Given the description of an element on the screen output the (x, y) to click on. 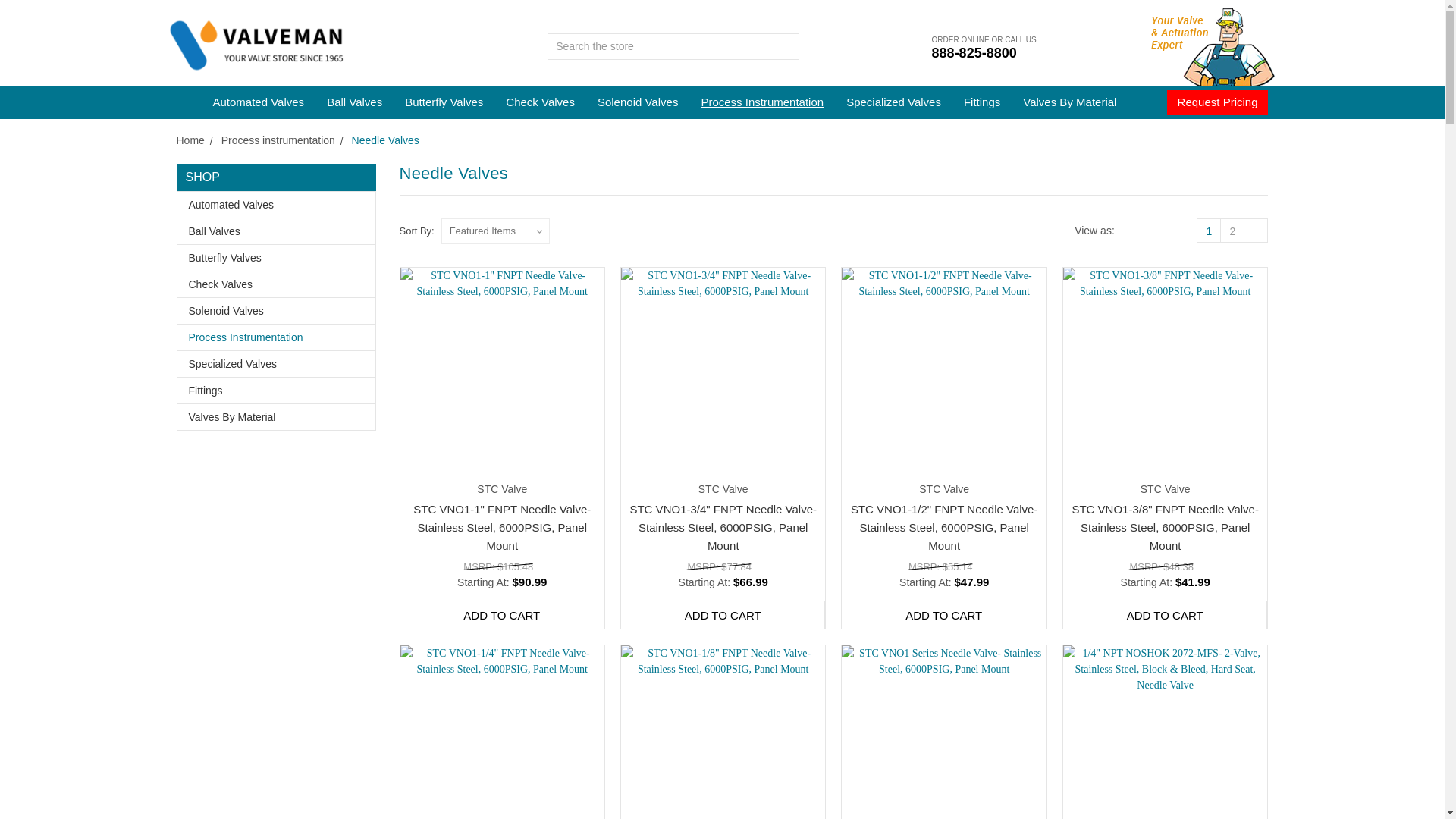
ValveMan.com (255, 46)
